Given the description of an element on the screen output the (x, y) to click on. 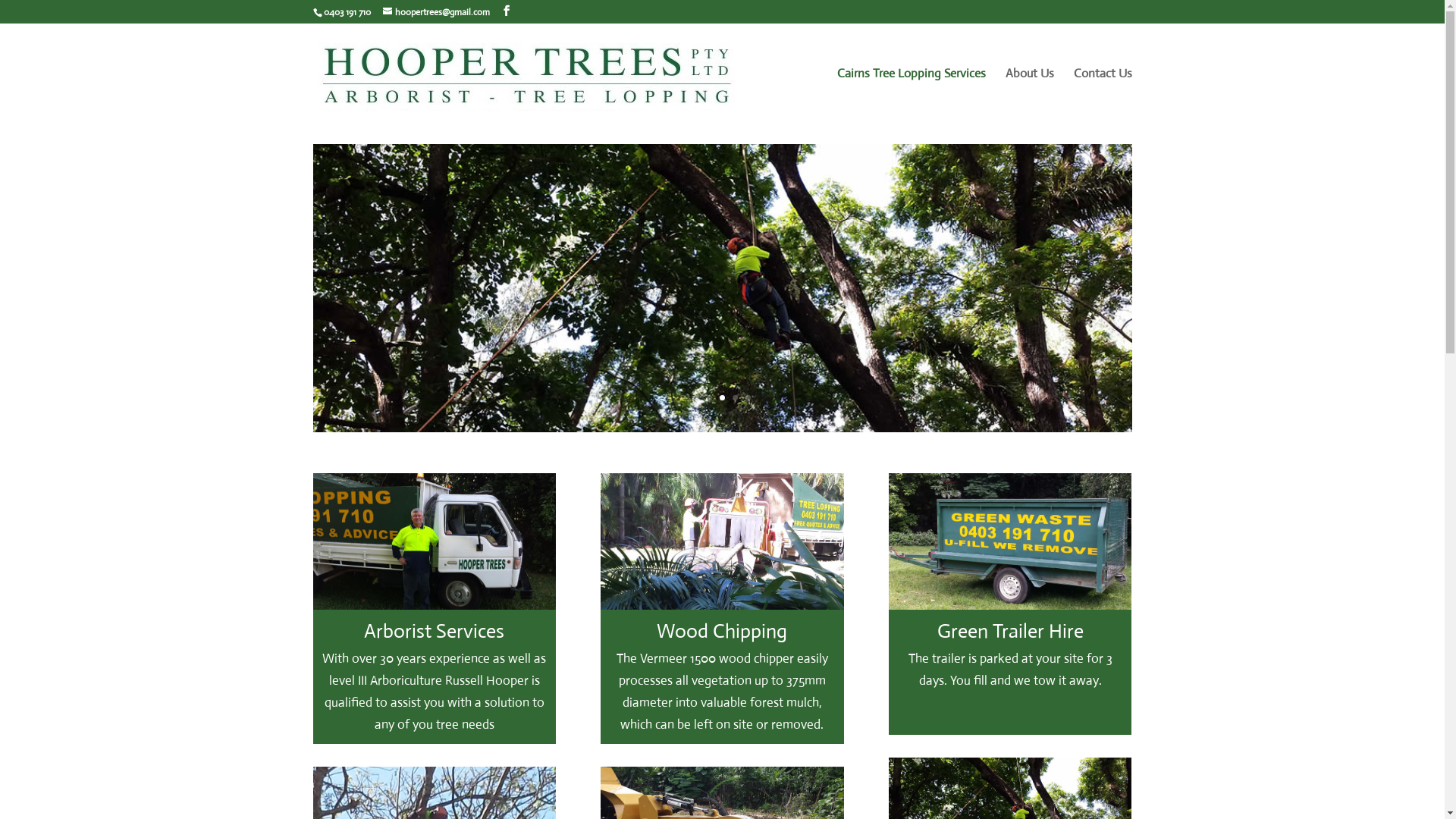
1 Element type: text (696, 397)
3 Element type: text (721, 397)
Cairns Tree Lopping Services Element type: text (911, 95)
4 Element type: text (734, 397)
hoopertrees@gmail.com Element type: text (435, 12)
2 Element type: text (709, 397)
Contact Us Element type: text (1102, 95)
About Us Element type: text (1029, 95)
5 Element type: text (747, 397)
